Given the description of an element on the screen output the (x, y) to click on. 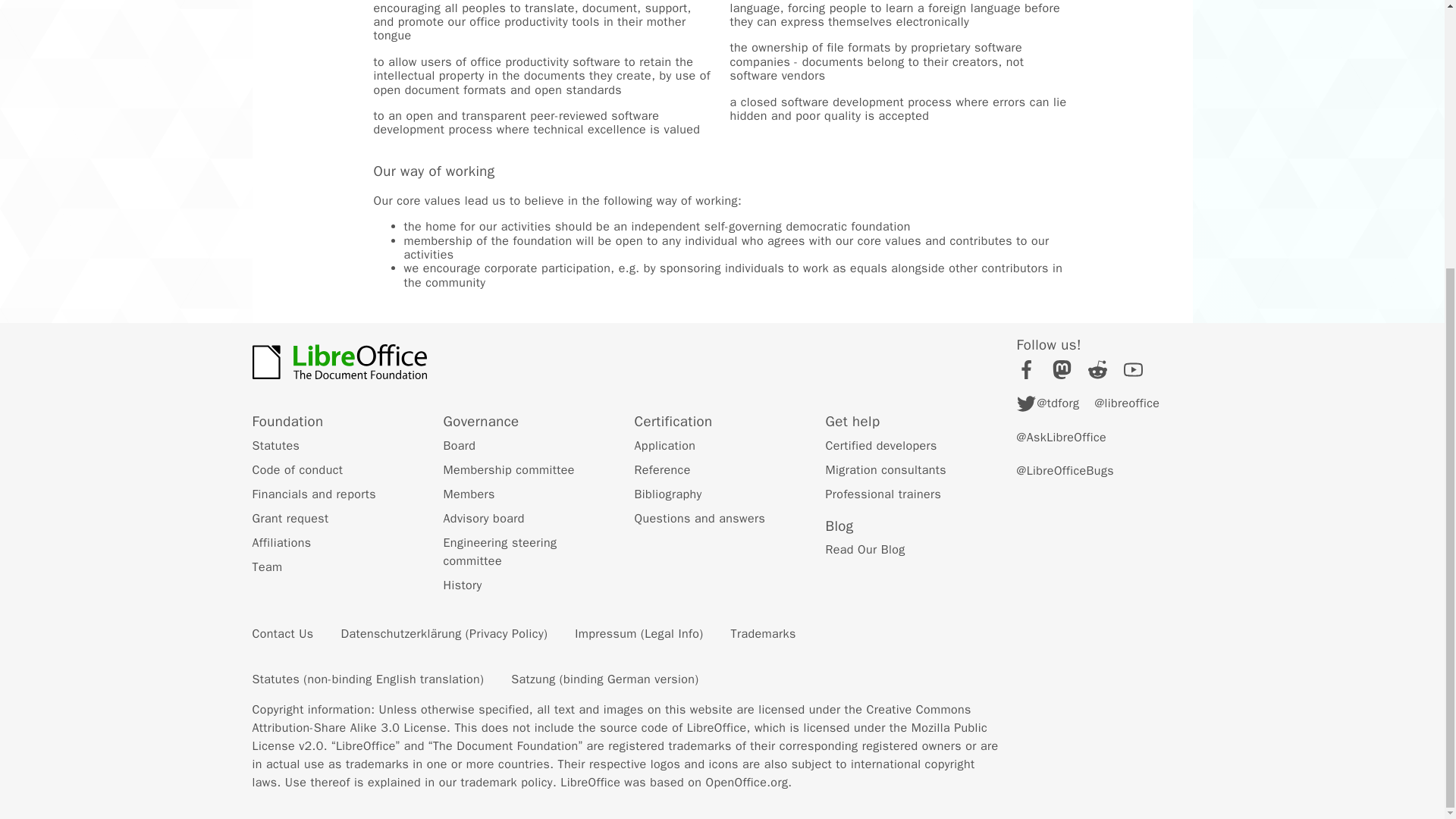
Reference (661, 469)
Certified developers (880, 445)
Grant request (290, 518)
History (461, 585)
Questions and answers (699, 518)
Engineering steering committee (499, 551)
Application (664, 445)
Affiliations (281, 542)
Membership committee (507, 469)
LibreOffice (338, 361)
Financials and reports (313, 494)
Statutes (275, 445)
Professional trainers (882, 494)
Code of conduct (296, 469)
Migration consultants (885, 469)
